Given the description of an element on the screen output the (x, y) to click on. 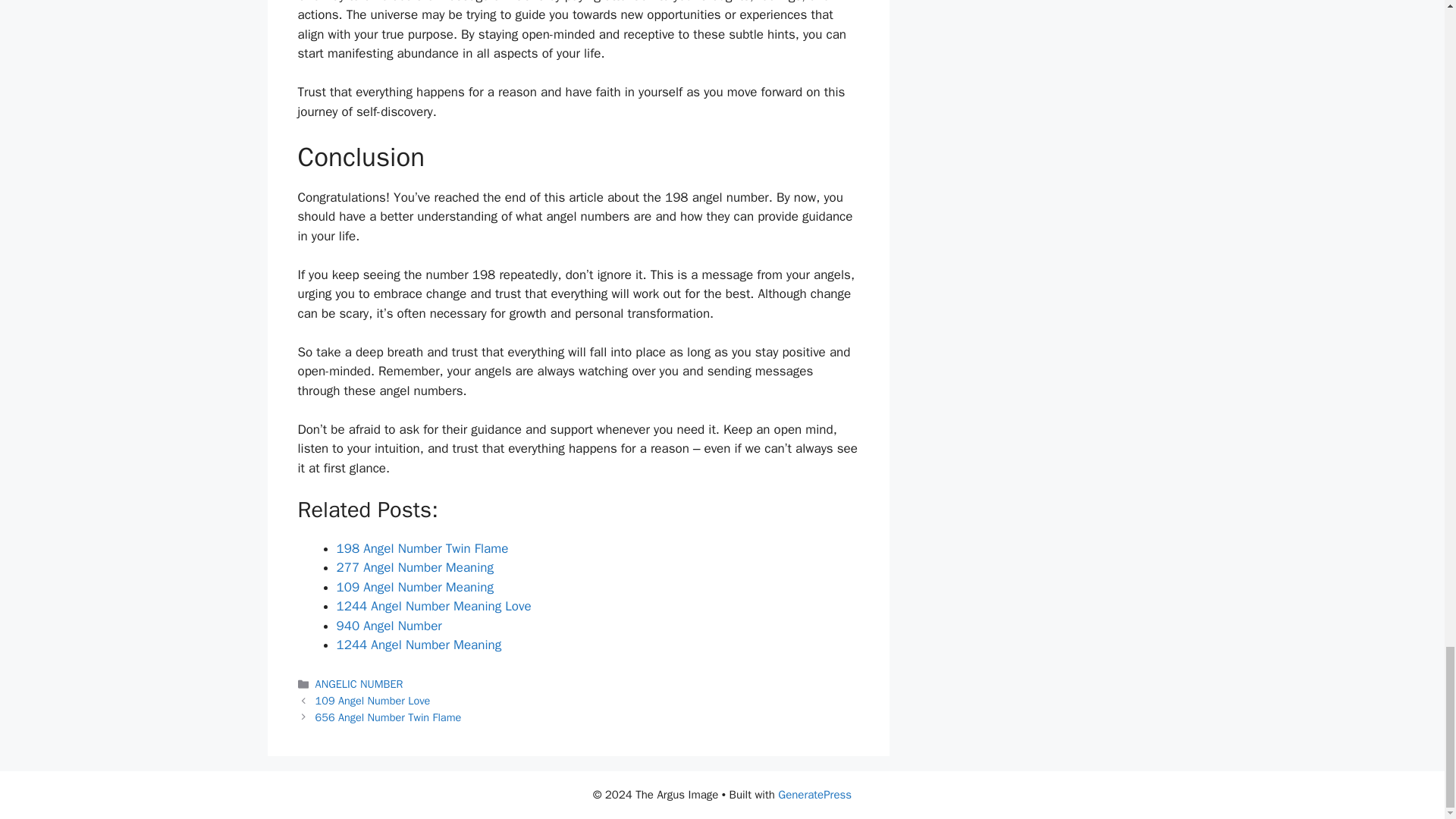
1244 Angel Number Meaning (419, 644)
940 Angel Number (389, 625)
109 Angel Number Love (372, 700)
109 Angel Number Meaning (415, 587)
GeneratePress (814, 794)
1244 Angel Number Meaning Love (433, 606)
656 Angel Number Twin Flame (388, 716)
198 Angel Number Twin Flame (422, 548)
ANGELIC NUMBER (359, 684)
277 Angel Number Meaning (415, 567)
